Given the description of an element on the screen output the (x, y) to click on. 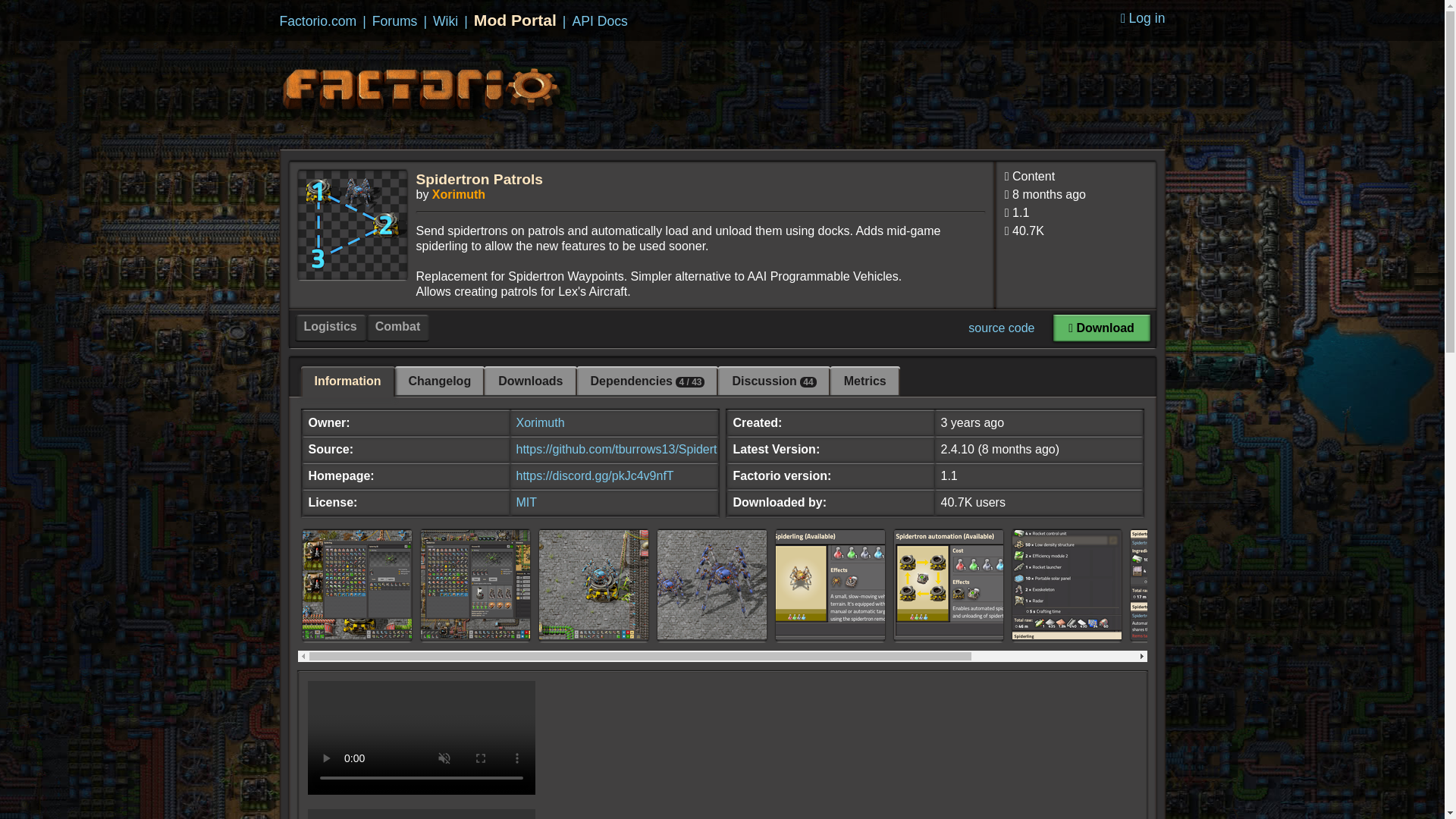
Metrics (864, 381)
Combat (397, 328)
Xorimuth (539, 422)
Factorio.com (317, 21)
Logistics (329, 328)
Forums (394, 21)
v2.4.0 patrol remote interaction demo (421, 814)
Downloads, updated daily (1075, 234)
MIT (526, 502)
Mod Portal (515, 19)
2023-11-08T21:32:45.065000 (1048, 194)
Downloads (530, 381)
Information (346, 381)
source code (1000, 327)
Xorimuth (458, 194)
